Given the description of an element on the screen output the (x, y) to click on. 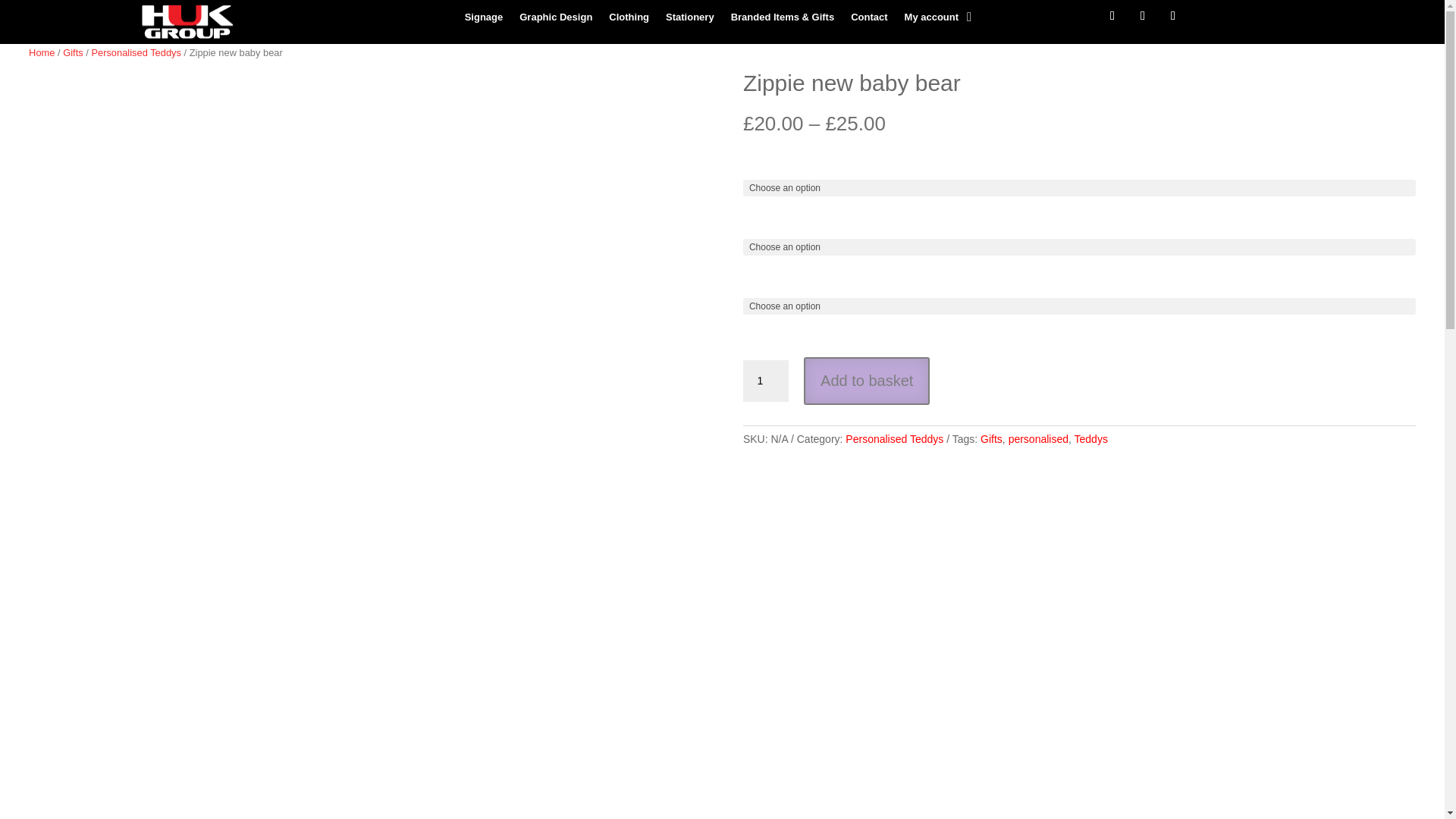
Stationery (689, 20)
Clothing (628, 20)
Gifts (72, 52)
Follow on Youtube (1172, 15)
Contact (868, 20)
Gifts (991, 439)
personalised (1038, 439)
Graphic Design (555, 20)
Add to basket (866, 380)
Huk-Group-Home (186, 20)
Follow on Facebook (1112, 15)
Follow on Instagram (1142, 15)
1 (765, 381)
My account (931, 20)
Signage (483, 20)
